Given the description of an element on the screen output the (x, y) to click on. 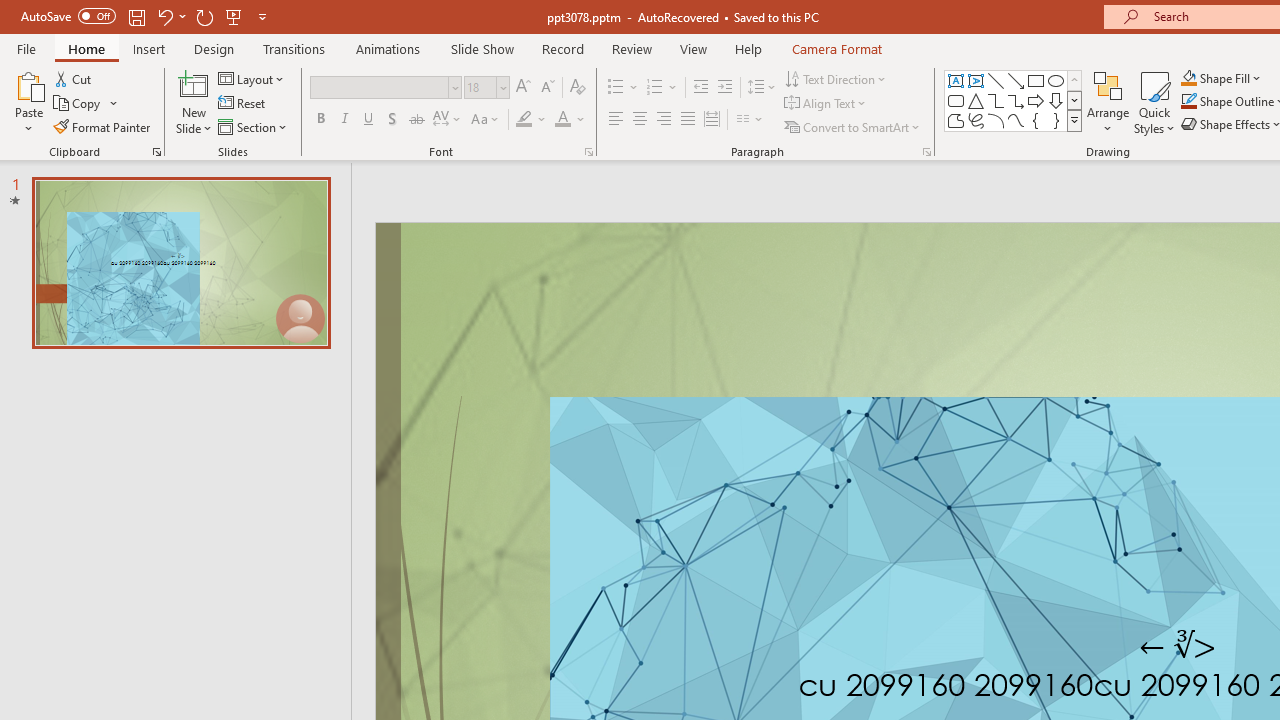
Save (136, 15)
Decrease Indent (700, 87)
Reset (243, 103)
Left Brace (1035, 120)
Font (385, 87)
Shape Outline Green, Accent 1 (1188, 101)
Insert (149, 48)
Align Text (826, 103)
Office Clipboard... (156, 151)
Font Color (569, 119)
Isosceles Triangle (975, 100)
Shape Fill Dark Green, Accent 2 (1188, 78)
Paste (28, 102)
AutoSave (68, 16)
